Given the description of an element on the screen output the (x, y) to click on. 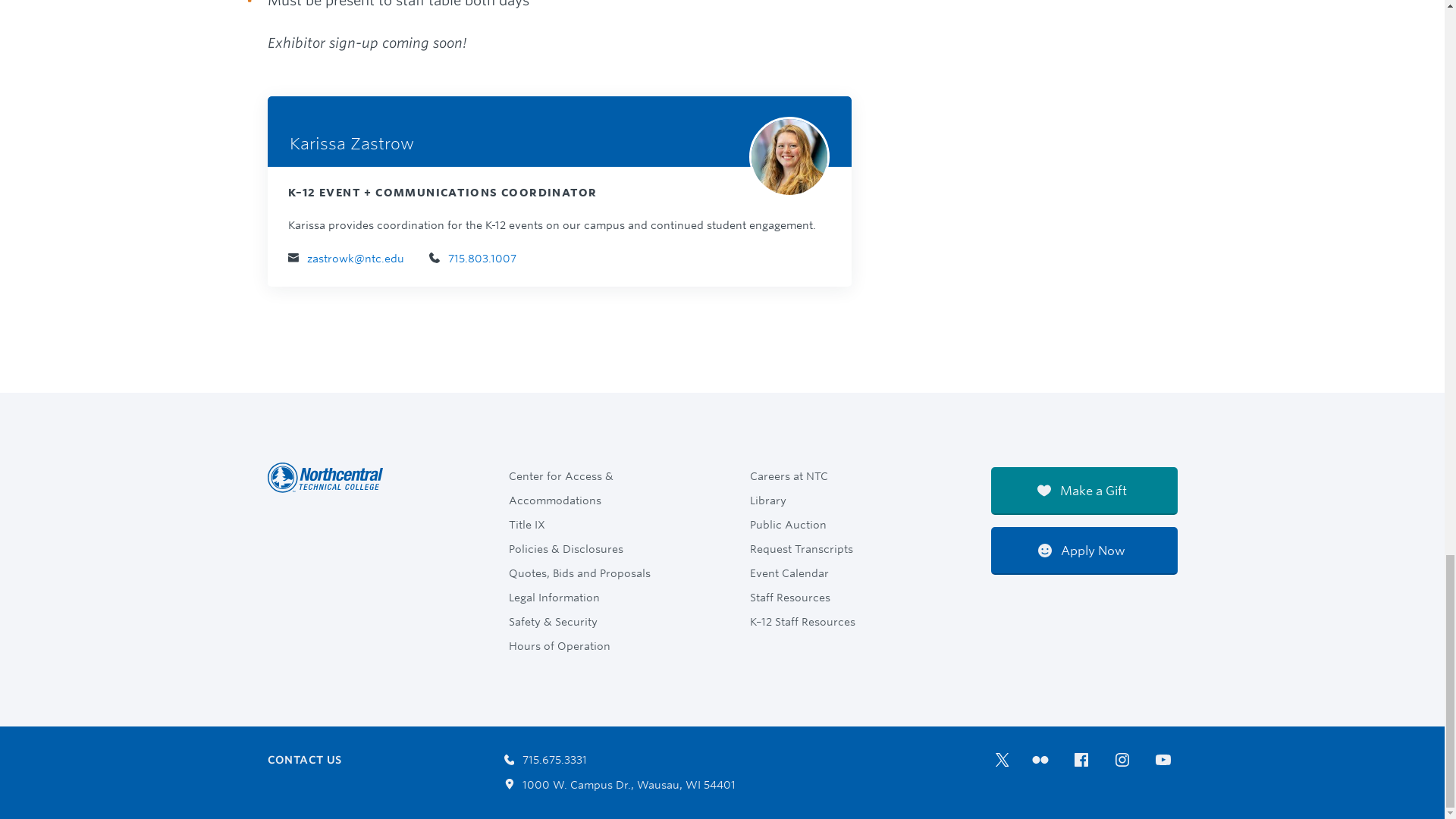
Legal Information (559, 597)
Request Transcripts (806, 548)
Public Auction (793, 524)
Title IX (532, 524)
Quotes, Bids and Proposals (584, 573)
Library (772, 500)
Careers at NTC (793, 476)
715.803.1007 (472, 258)
Northcentral Technical College (328, 489)
Hours of Operation (564, 645)
